Given the description of an element on the screen output the (x, y) to click on. 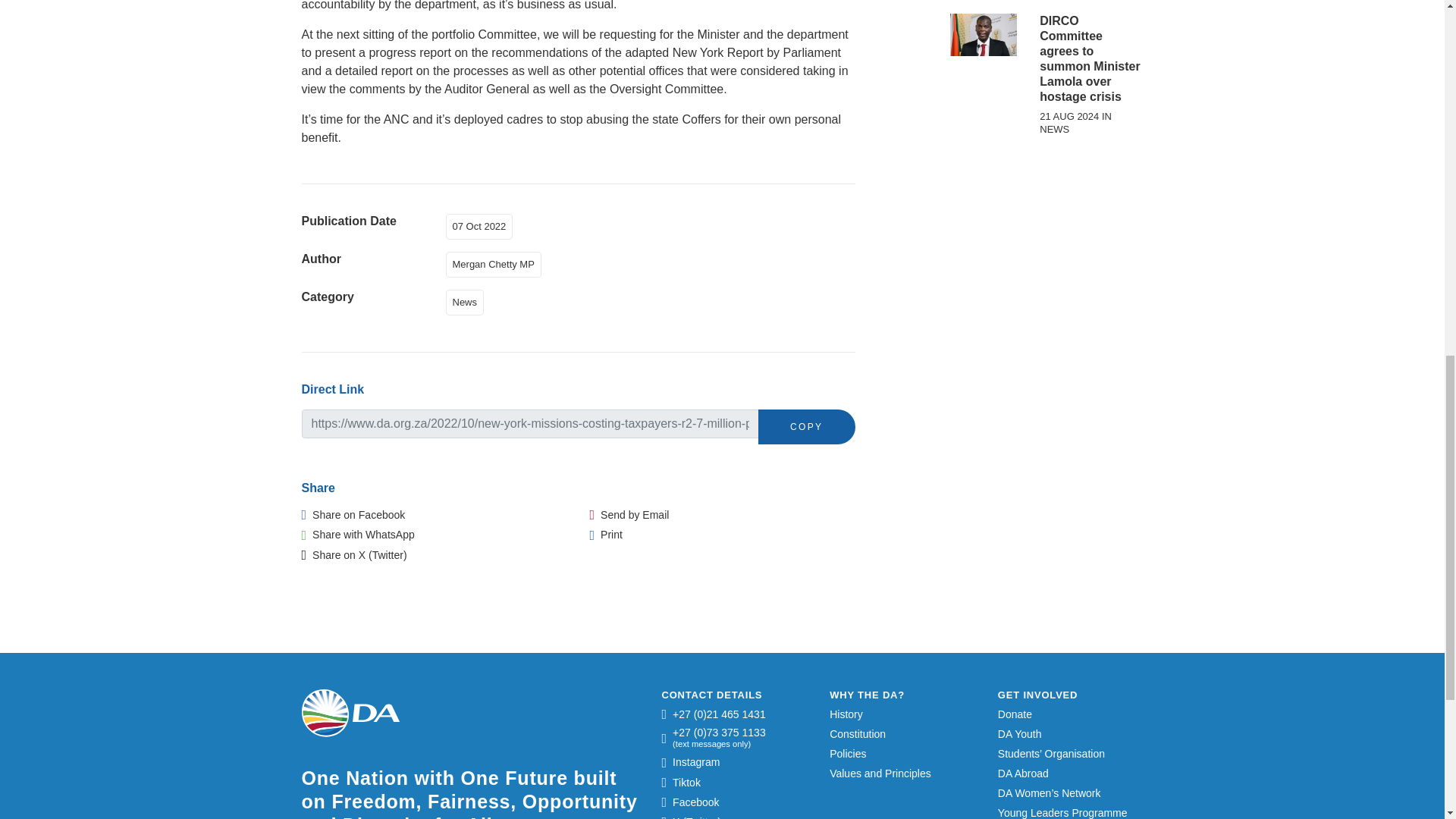
Share on Facebook (353, 514)
COPY (807, 426)
Share with WhatsApp (357, 534)
News (467, 300)
Democratic Alliance Logo (350, 713)
